Given the description of an element on the screen output the (x, y) to click on. 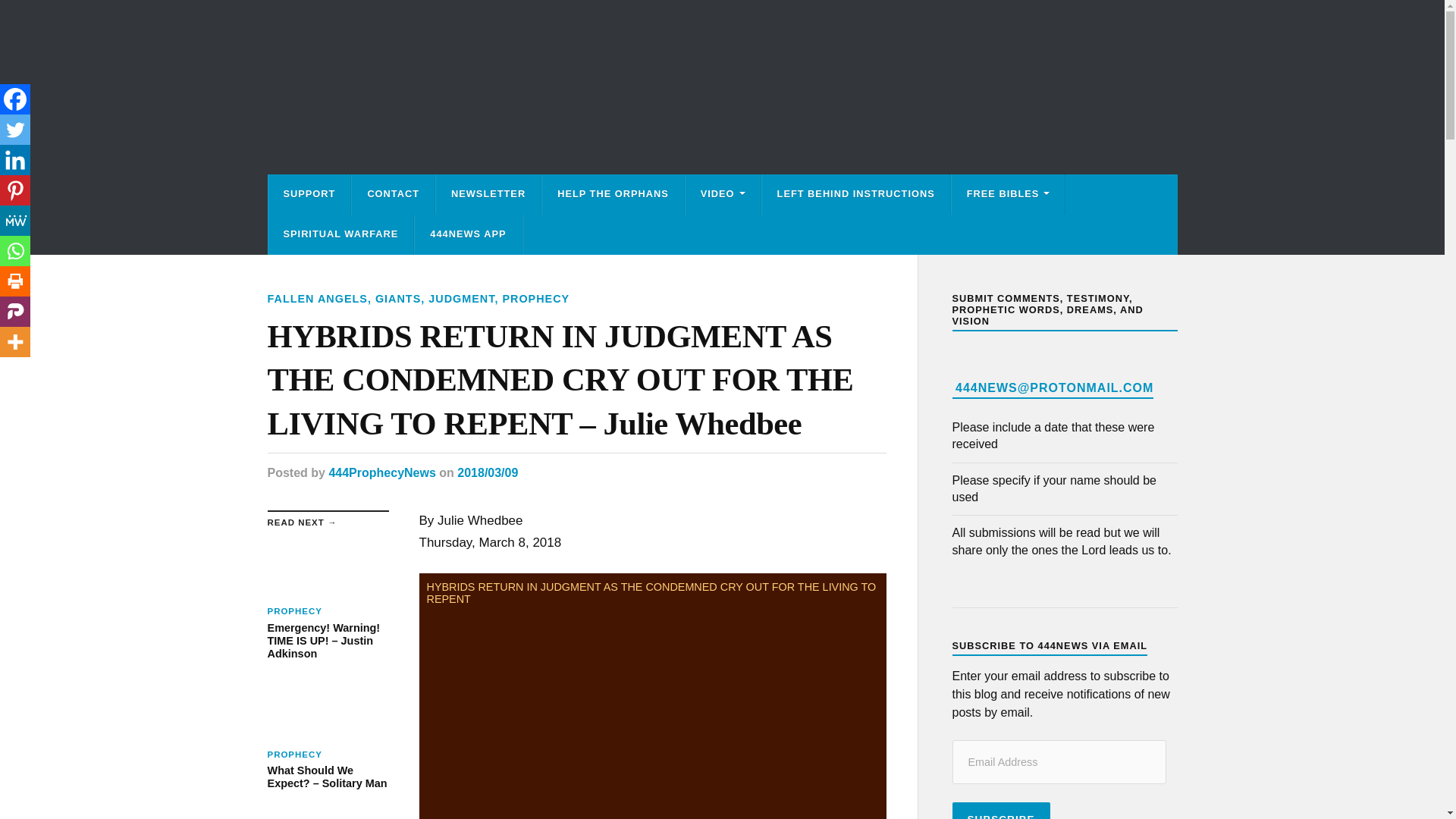
LEFT BEHIND INSTRUCTIONS (855, 194)
Linkedin (15, 159)
GIANTS (397, 298)
VIDEO (722, 194)
MeWe (15, 220)
NEWSLETTER (487, 194)
444NEWS APP (467, 234)
CONTACT (392, 194)
Pinterest (15, 190)
444ProphecyNews (382, 472)
